Given the description of an element on the screen output the (x, y) to click on. 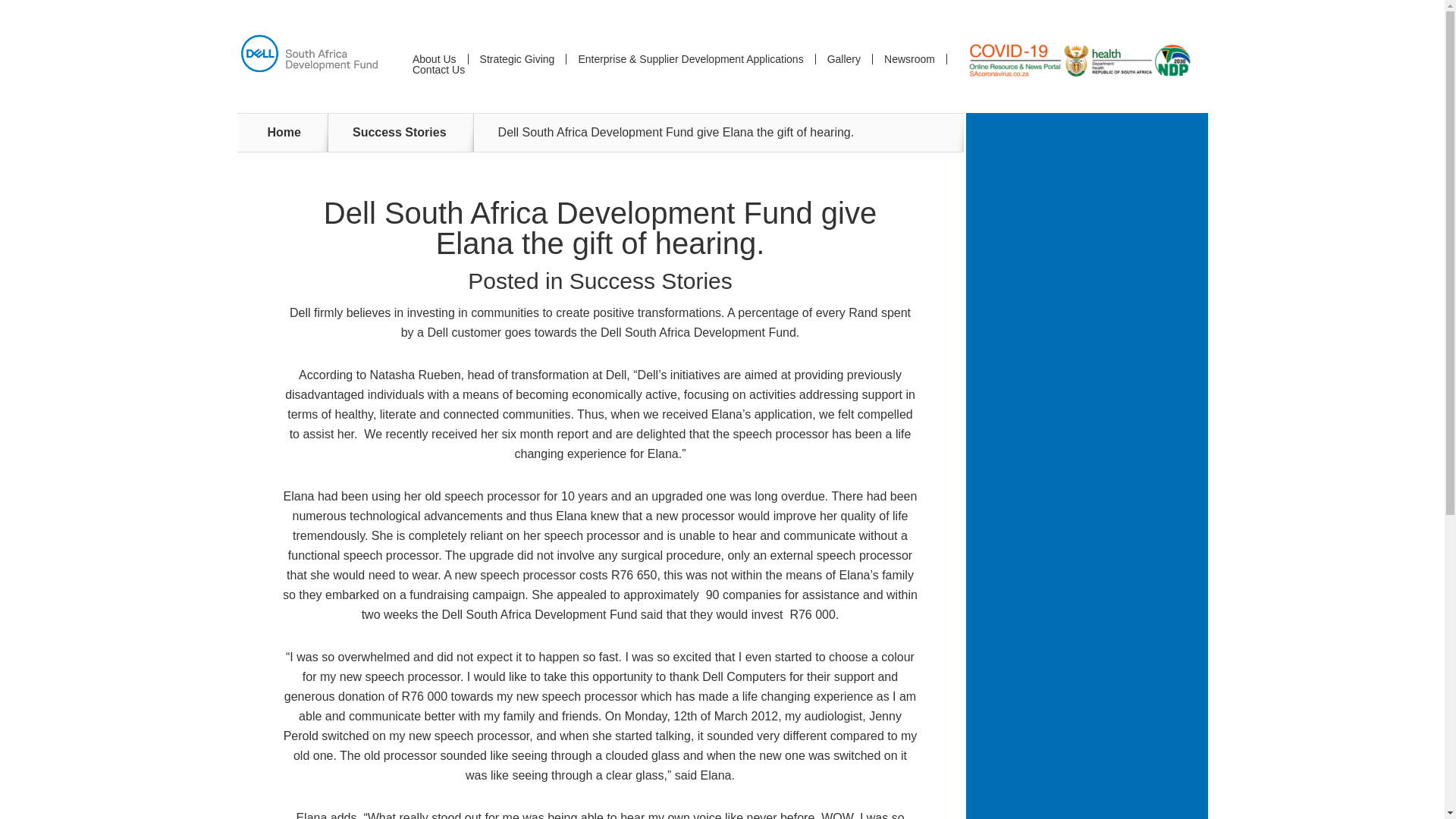
Gallery (843, 59)
Strategic Giving (517, 59)
Contact Us (438, 69)
Home (283, 132)
About Us (434, 59)
Newsroom (908, 59)
Success Stories (650, 280)
Success Stories (408, 132)
